Given the description of an element on the screen output the (x, y) to click on. 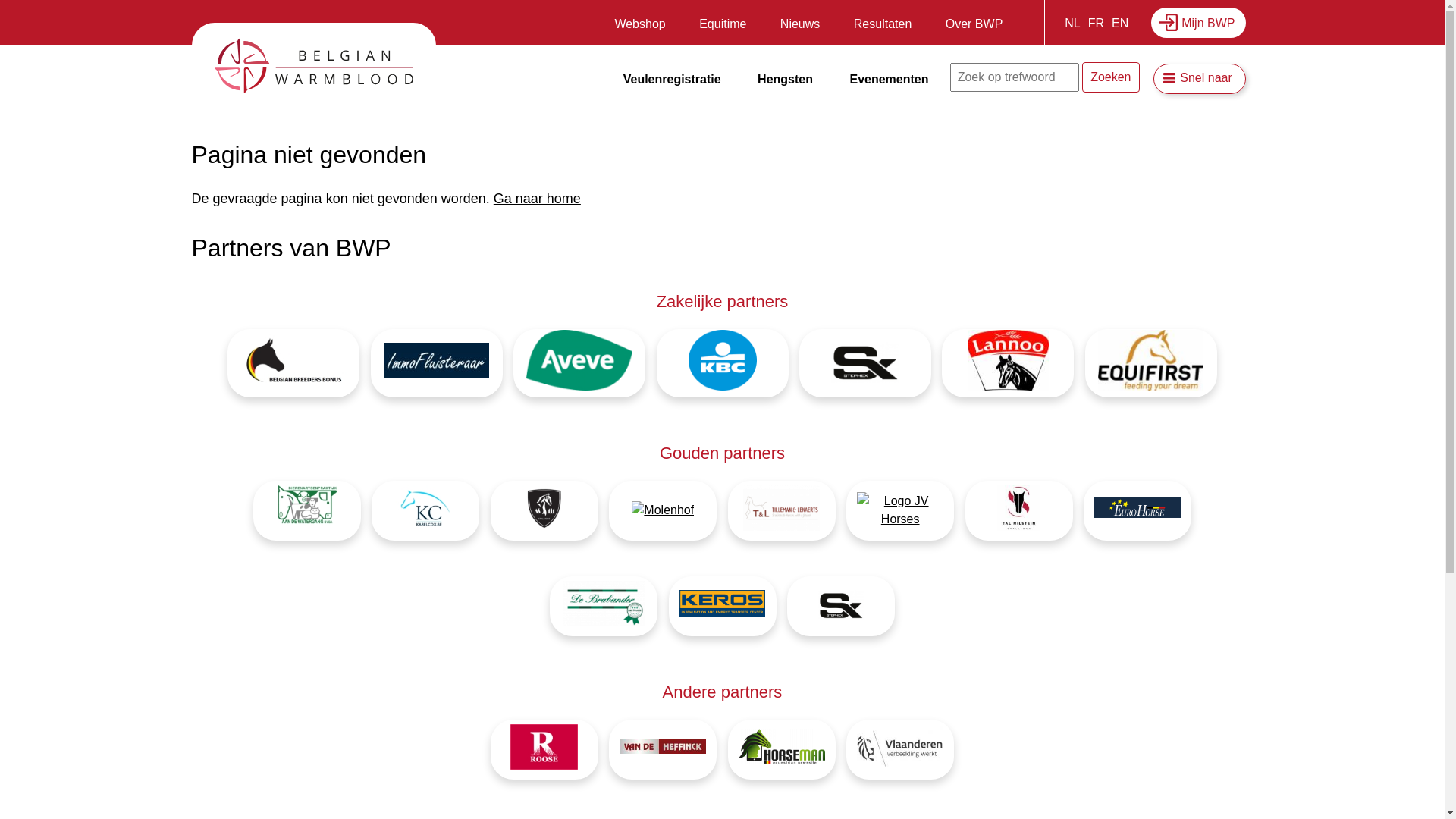
Afbeelding Element type: text (899, 748)
Over BWP Element type: text (974, 26)
Afbeelding Element type: text (722, 362)
Afbeelding Element type: text (899, 510)
NL Element type: text (1071, 22)
Nieuws Element type: text (799, 26)
Afbeelding Element type: text (1019, 510)
FR Element type: text (1096, 22)
Afbeelding Element type: text (865, 362)
Evenementen Element type: text (888, 79)
Afbeelding Element type: text (544, 749)
Afbeelding Element type: text (425, 510)
Mijn BWP Element type: text (1198, 22)
Afbeelding Element type: text (436, 362)
Afbeelding Element type: text (1151, 362)
Webshop Element type: text (639, 26)
Afbeelding Element type: text (1137, 510)
Ga naar home Element type: text (536, 198)
Afbeelding Element type: text (840, 605)
Zoeken Element type: text (1110, 77)
Afbeelding Element type: text (544, 510)
Equitime Element type: text (722, 26)
Veulenregistratie Element type: text (672, 79)
Afbeelding Element type: text (781, 748)
Overslaan en naar de inhoud gaan Element type: text (0, 0)
Afbeelding Element type: text (722, 605)
Afbeelding Element type: text (662, 510)
Hengsten Element type: text (785, 79)
Resultaten Element type: text (882, 26)
Afbeelding Element type: text (781, 510)
Afbeelding Element type: text (293, 363)
Afbeelding Element type: text (1007, 362)
EN Element type: text (1119, 22)
Afbeelding Element type: text (662, 749)
Afbeelding Element type: text (306, 510)
Afbeelding Element type: text (579, 362)
Afbeelding Element type: text (603, 605)
